Given the description of an element on the screen output the (x, y) to click on. 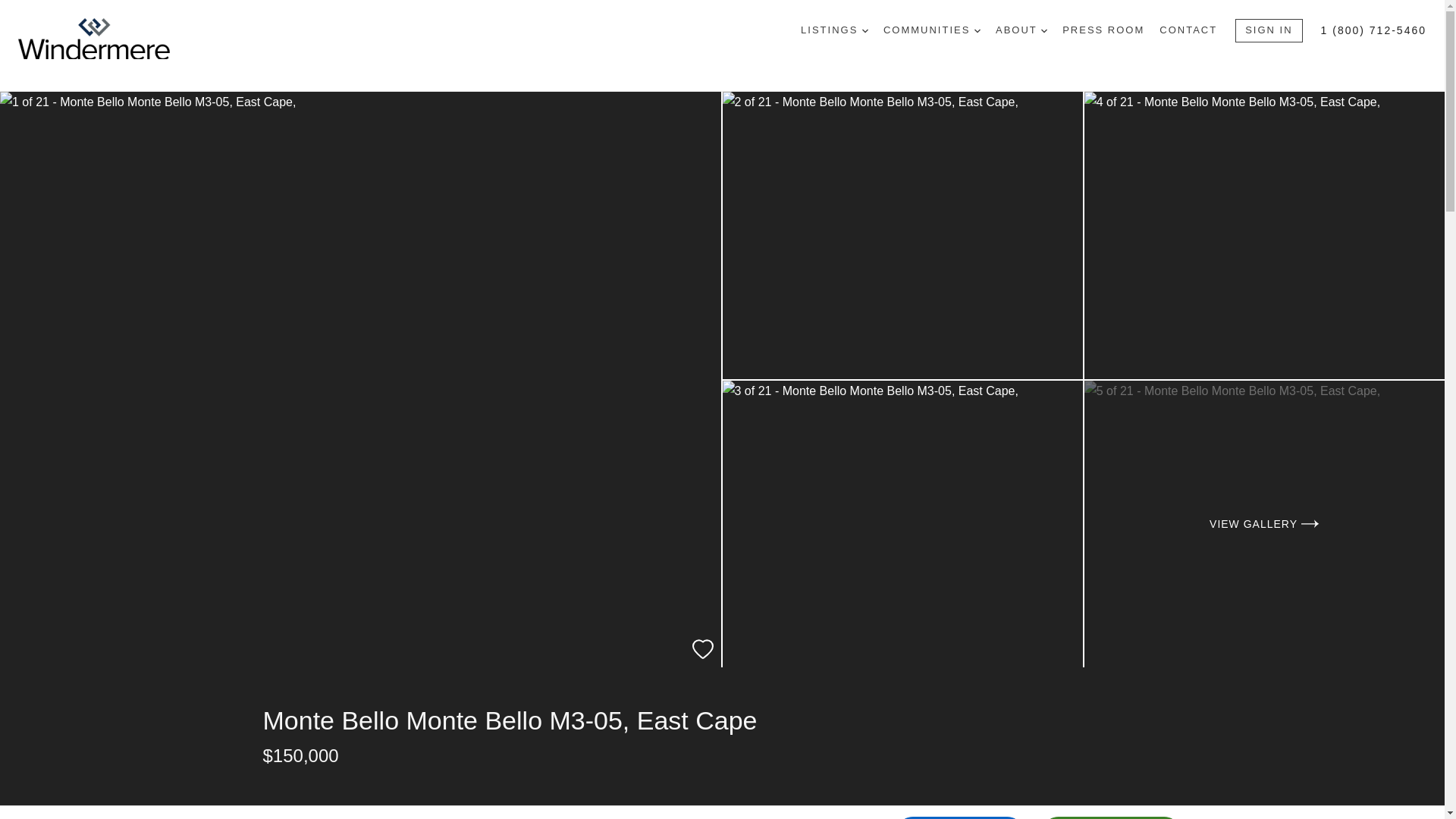
SIGN IN (1267, 30)
DROPDOWN ARROW (864, 30)
LISTINGS DROPDOWN ARROW (833, 30)
ABOUT DROPDOWN ARROW (1020, 30)
CONTACT (1187, 30)
DROPDOWN ARROW (1043, 30)
COMMUNITIES DROPDOWN ARROW (931, 30)
DROPDOWN ARROW (976, 30)
OVERVIEW (291, 812)
PRESS ROOM (1103, 30)
